Given the description of an element on the screen output the (x, y) to click on. 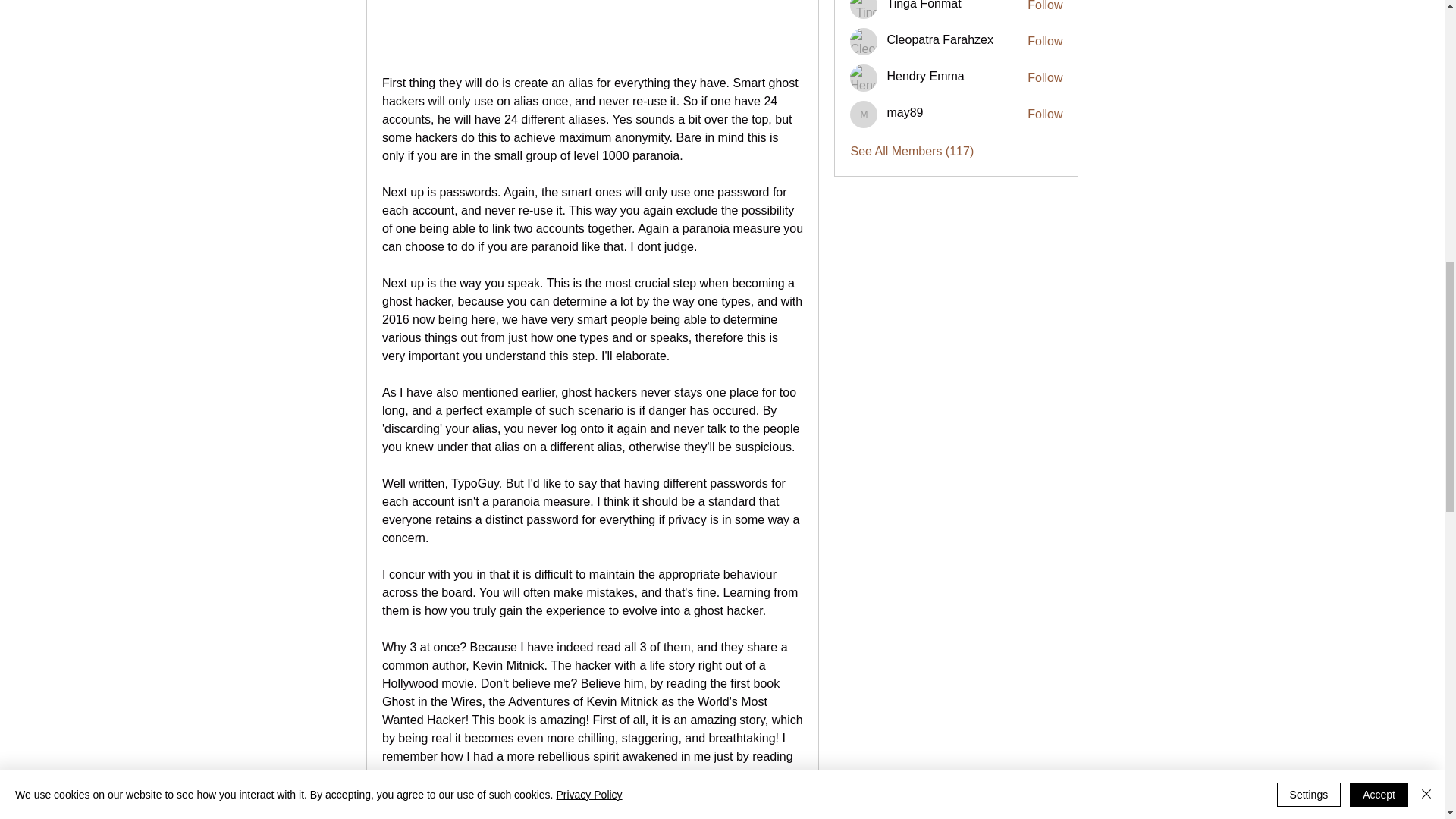
may89 (863, 113)
Follow (1044, 41)
Tinga Fonmat (863, 9)
Follow (1044, 6)
Hendry Emma (863, 77)
Cleopatra Farahzex (939, 39)
Cleopatra Farahzex (863, 41)
Tinga Fonmat (923, 4)
